Given the description of an element on the screen output the (x, y) to click on. 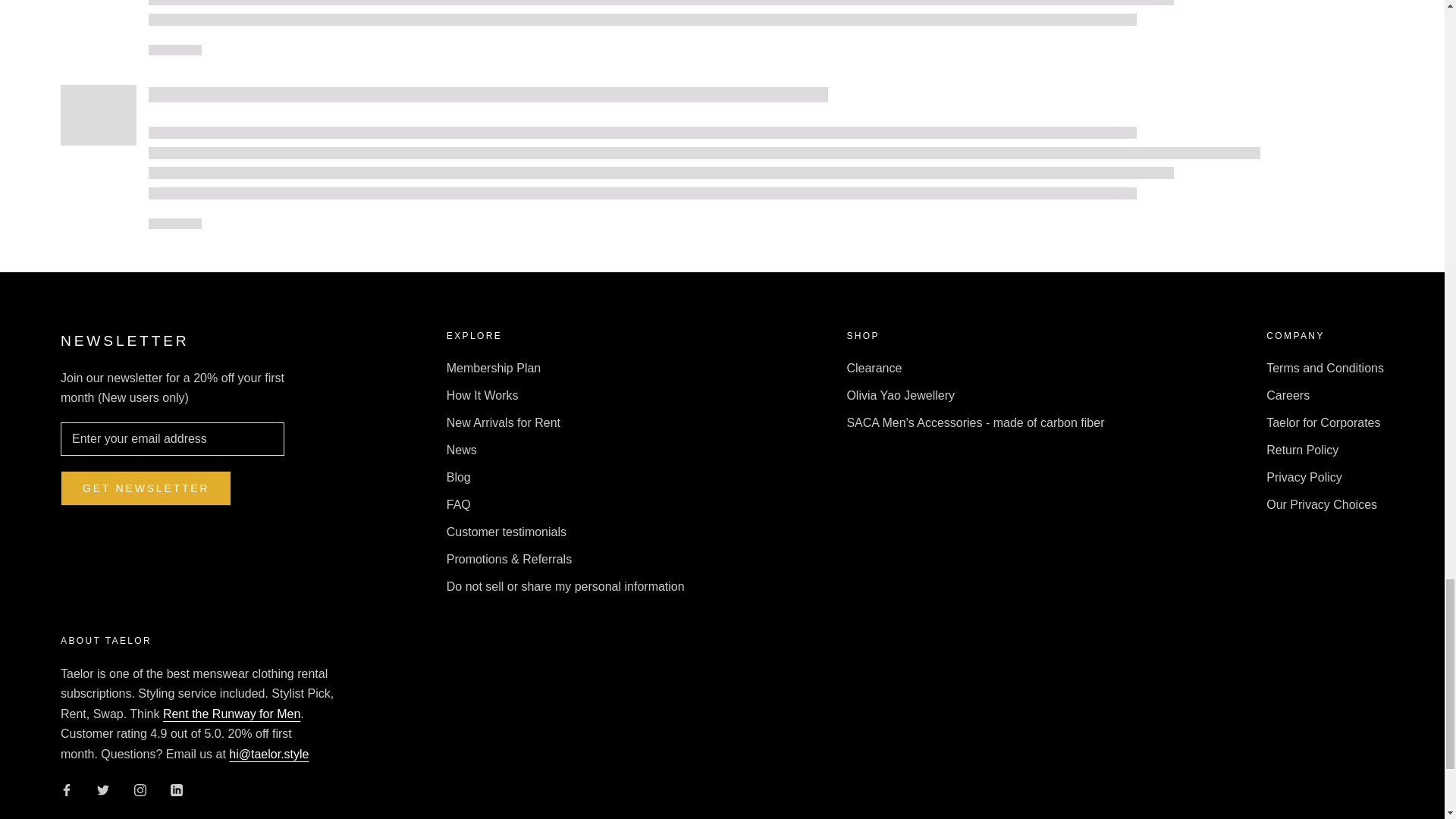
Rent the Runway for Men (231, 713)
